Given the description of an element on the screen output the (x, y) to click on. 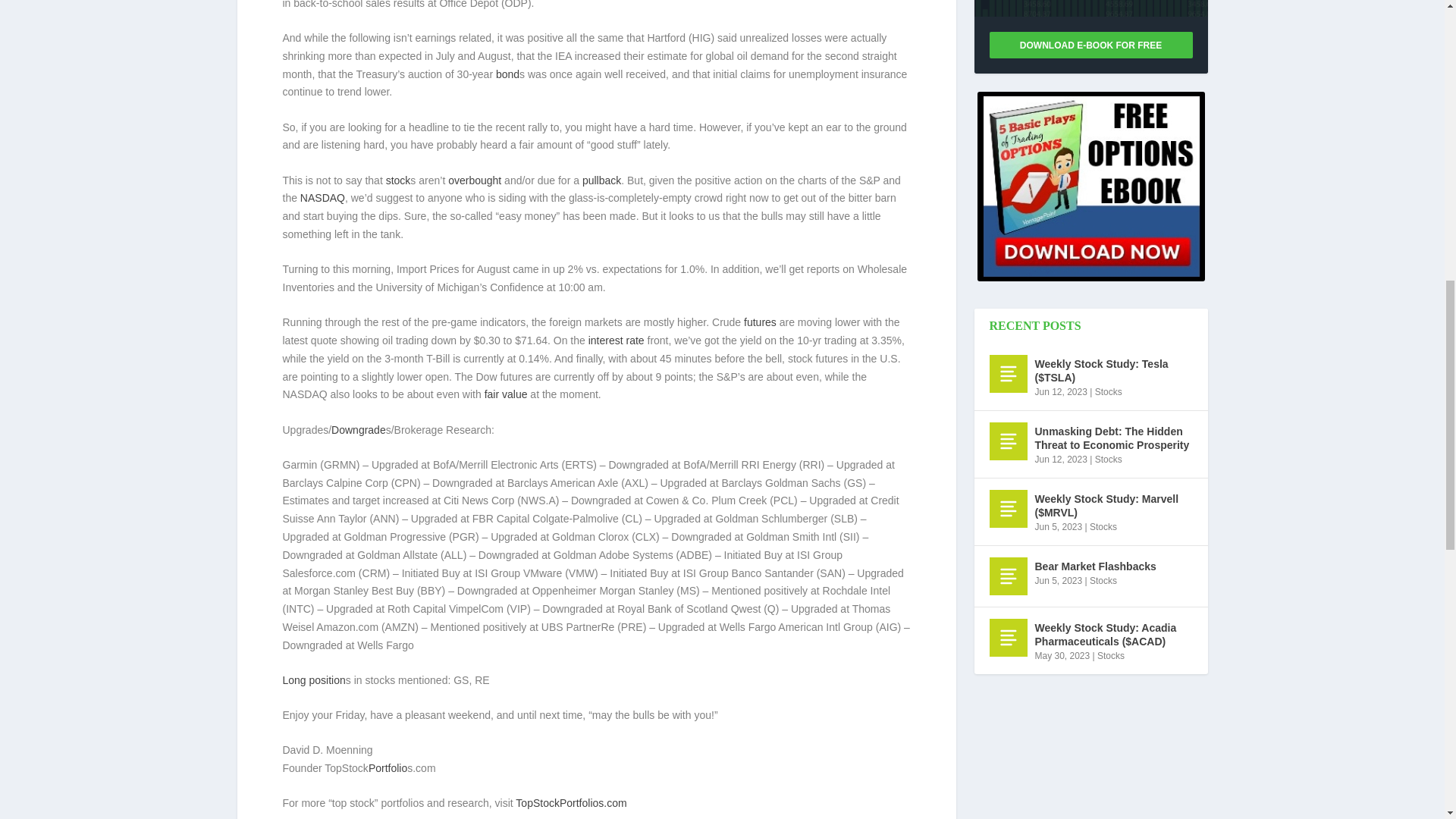
futures (760, 322)
bond (507, 73)
fair value (505, 394)
NASDAQ (322, 197)
Bear Market Flashbacks (1007, 576)
overbought (474, 180)
stock (397, 180)
Portfolio (387, 767)
Downgrade (358, 429)
Long position (313, 680)
